Given the description of an element on the screen output the (x, y) to click on. 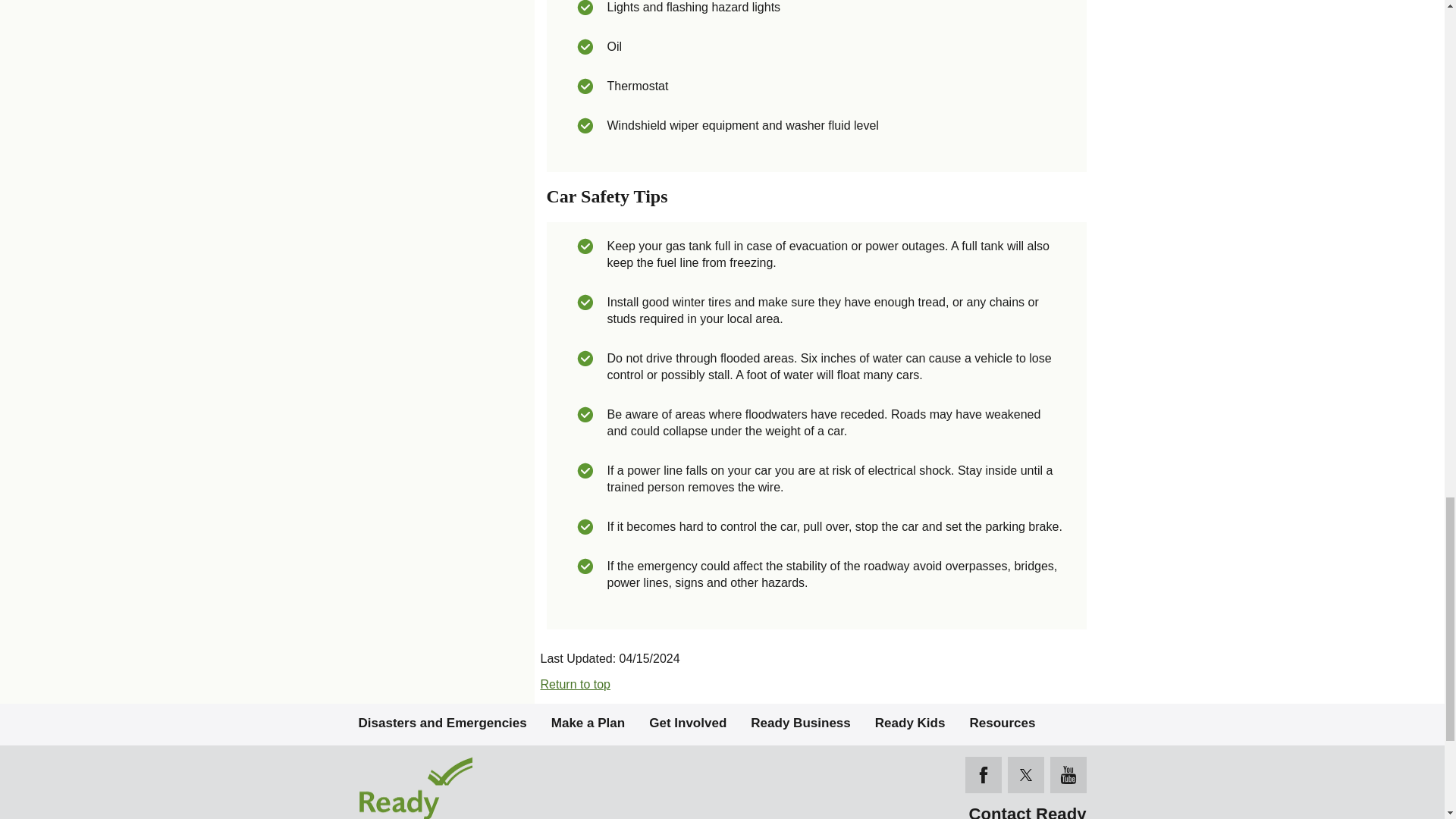
READY logo (471, 787)
Ready Kids (909, 722)
Get Involved (687, 722)
